Given the description of an element on the screen output the (x, y) to click on. 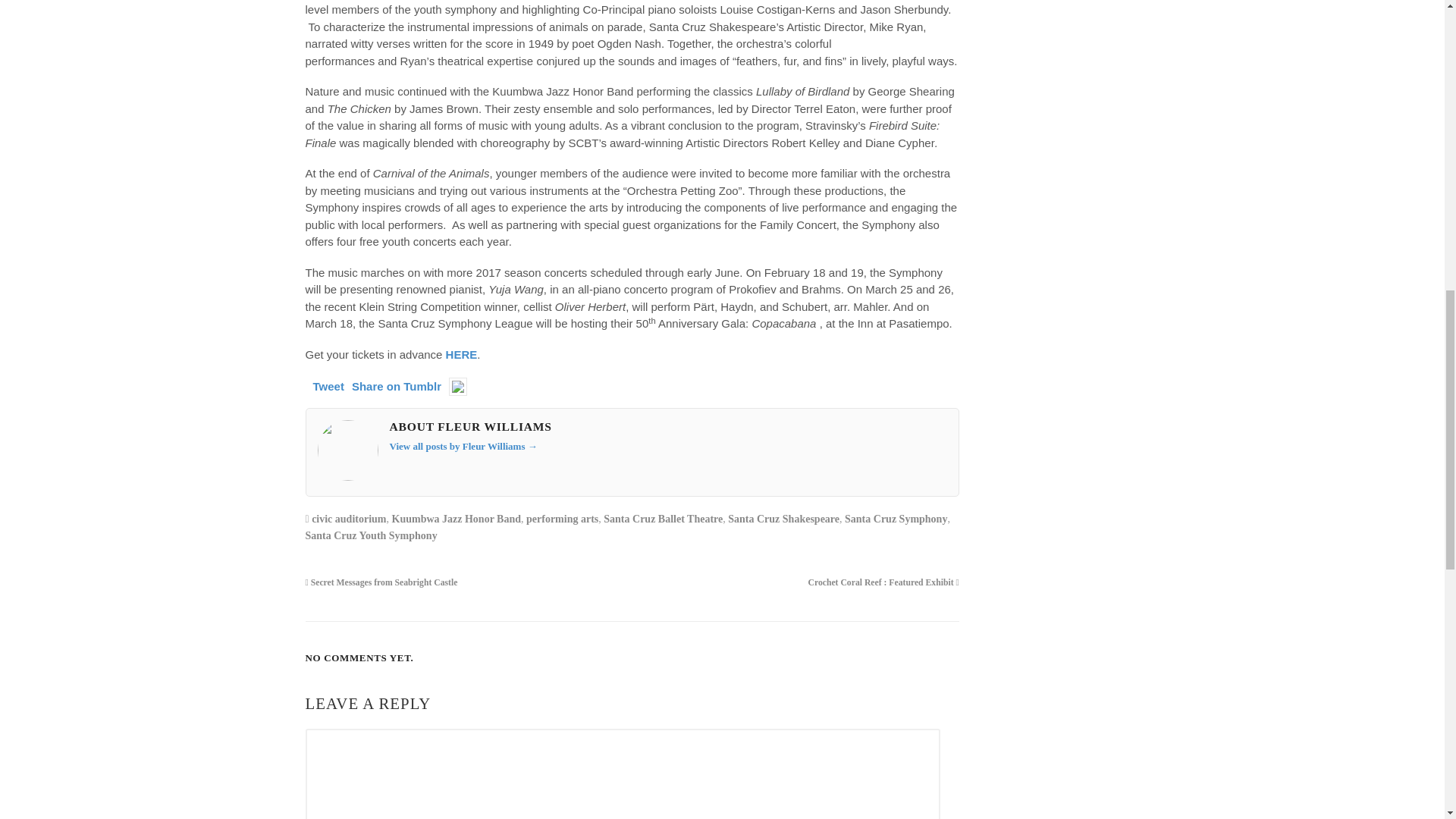
Share on Tumblr (396, 386)
civic auditorium (348, 518)
Share on Tumblr (396, 386)
performing arts (561, 518)
Tweet (328, 386)
Kuumbwa Jazz Honor Band (456, 518)
HERE (461, 354)
